Given the description of an element on the screen output the (x, y) to click on. 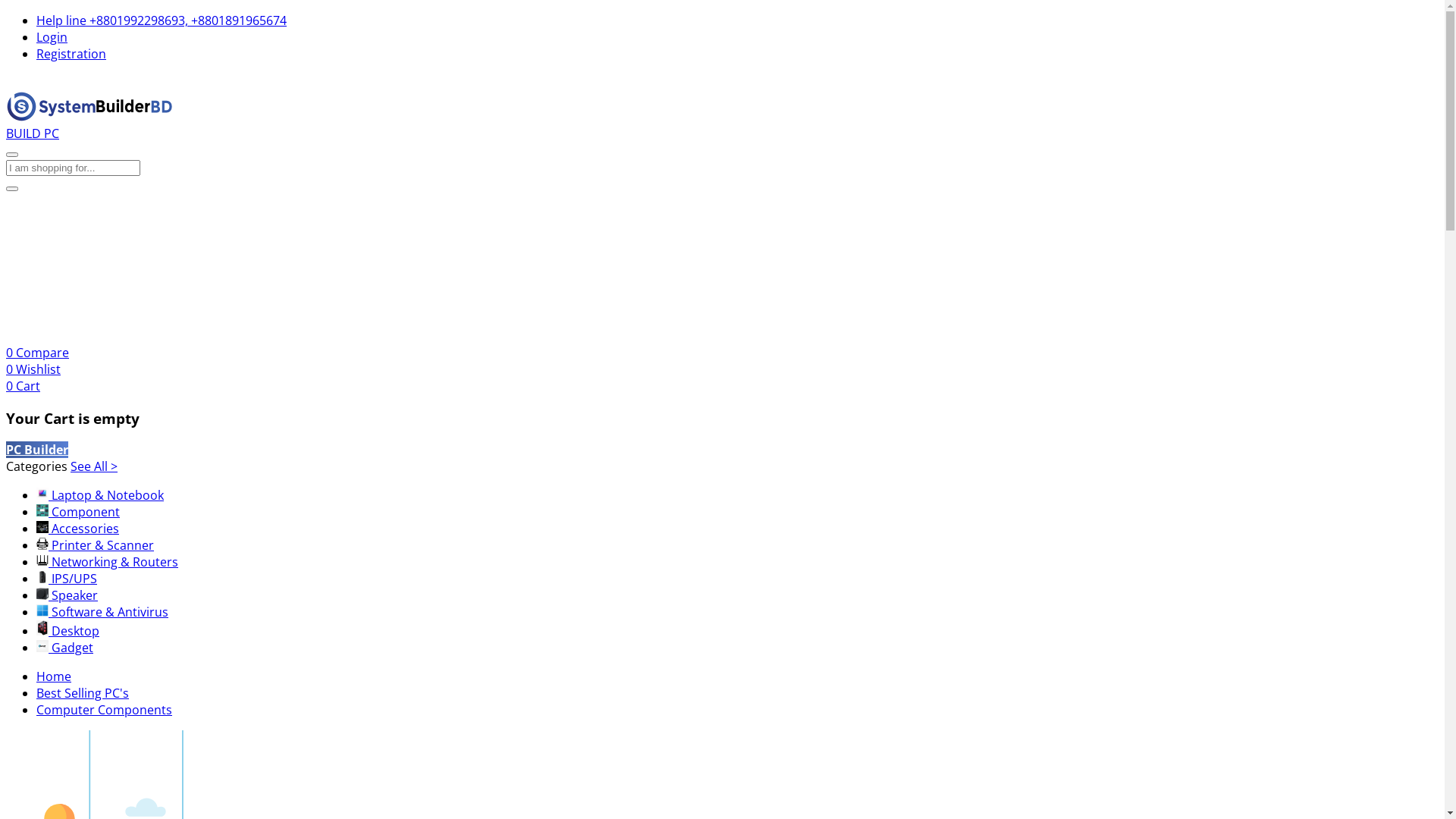
PC Builder Element type: text (37, 449)
Gadget Element type: text (64, 647)
Networking & Routers Element type: text (107, 561)
Home Element type: text (53, 676)
0 Compare Element type: text (37, 352)
0 Wishlist Element type: text (33, 368)
Accessories Element type: text (77, 528)
Software & Antivirus Element type: text (102, 611)
BUILD PC Element type: text (32, 133)
Desktop Element type: text (67, 630)
Login Element type: text (51, 36)
Help line +8801992298693, +8801891965674 Element type: text (161, 20)
Laptop & Notebook Element type: text (99, 494)
Component Element type: text (77, 511)
See All > Element type: text (93, 466)
Best Selling PC's Element type: text (82, 692)
Printer & Scanner Element type: text (94, 544)
Registration Element type: text (71, 53)
Computer Components Element type: text (104, 709)
IPS/UPS Element type: text (66, 578)
0 Cart Element type: text (23, 385)
Speaker Element type: text (66, 594)
